Given the description of an element on the screen output the (x, y) to click on. 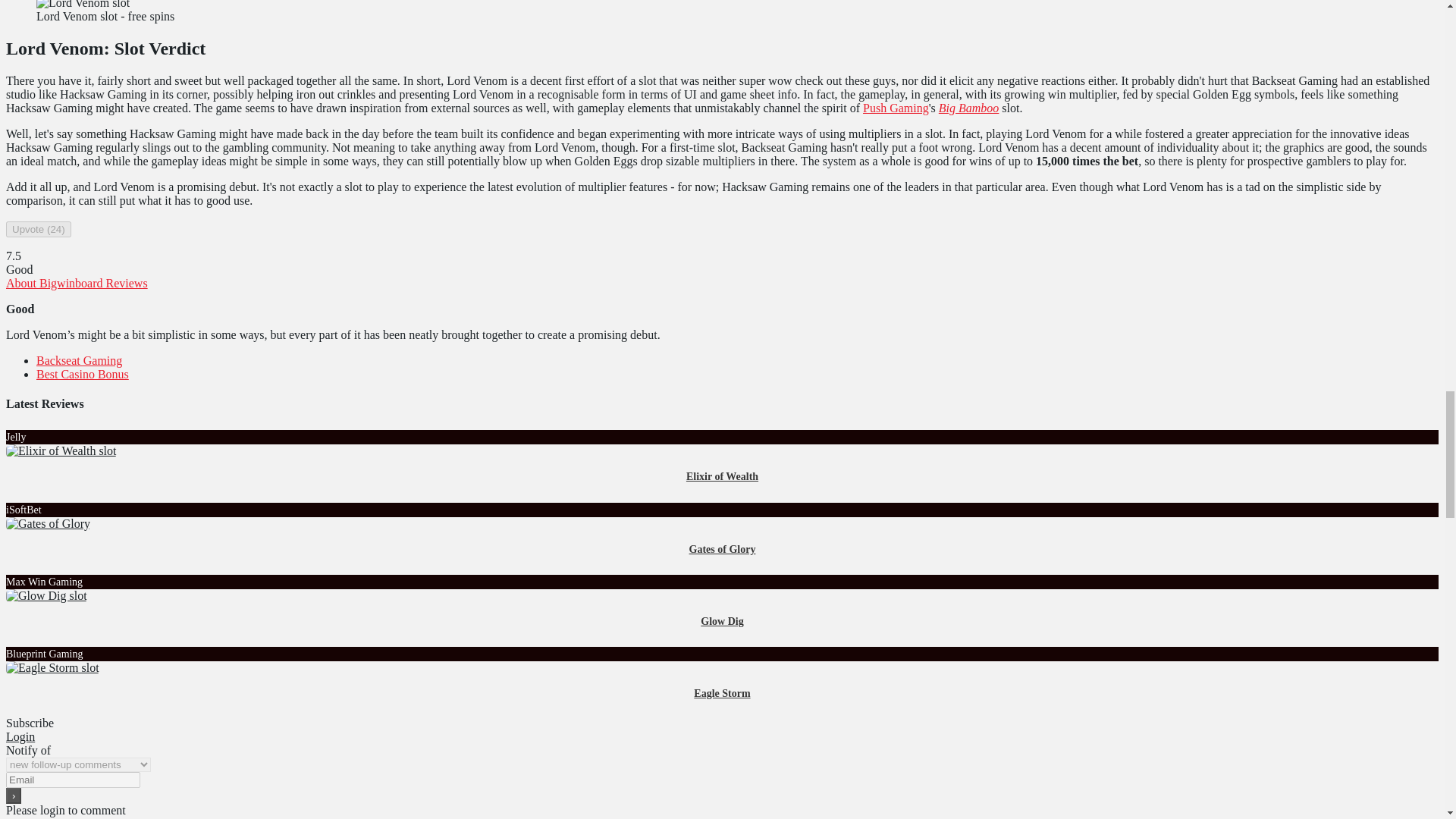
About Bigwinboard Reviews (76, 282)
